Given the description of an element on the screen output the (x, y) to click on. 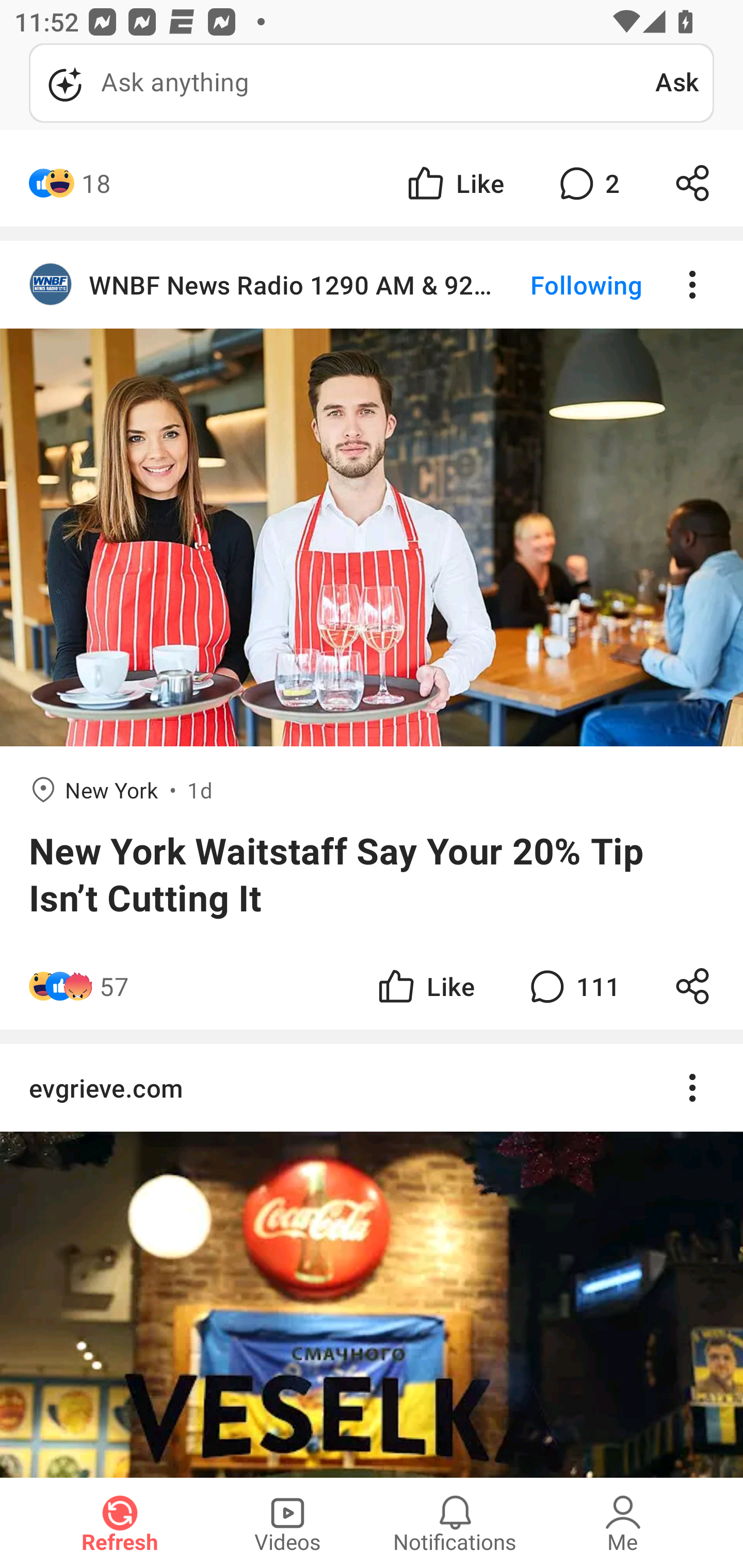
Ask anything (341, 82)
18 (95, 182)
Like (454, 182)
2 (587, 182)
WNBF News Radio 1290 AM & 92.1 FM Following (371, 285)
Following (569, 285)
57 (114, 986)
Like (425, 986)
111 (572, 986)
evgrieve.com (371, 1260)
evgrieve.com (371, 1088)
Videos (287, 1522)
Notifications (455, 1522)
Me (622, 1522)
